Given the description of an element on the screen output the (x, y) to click on. 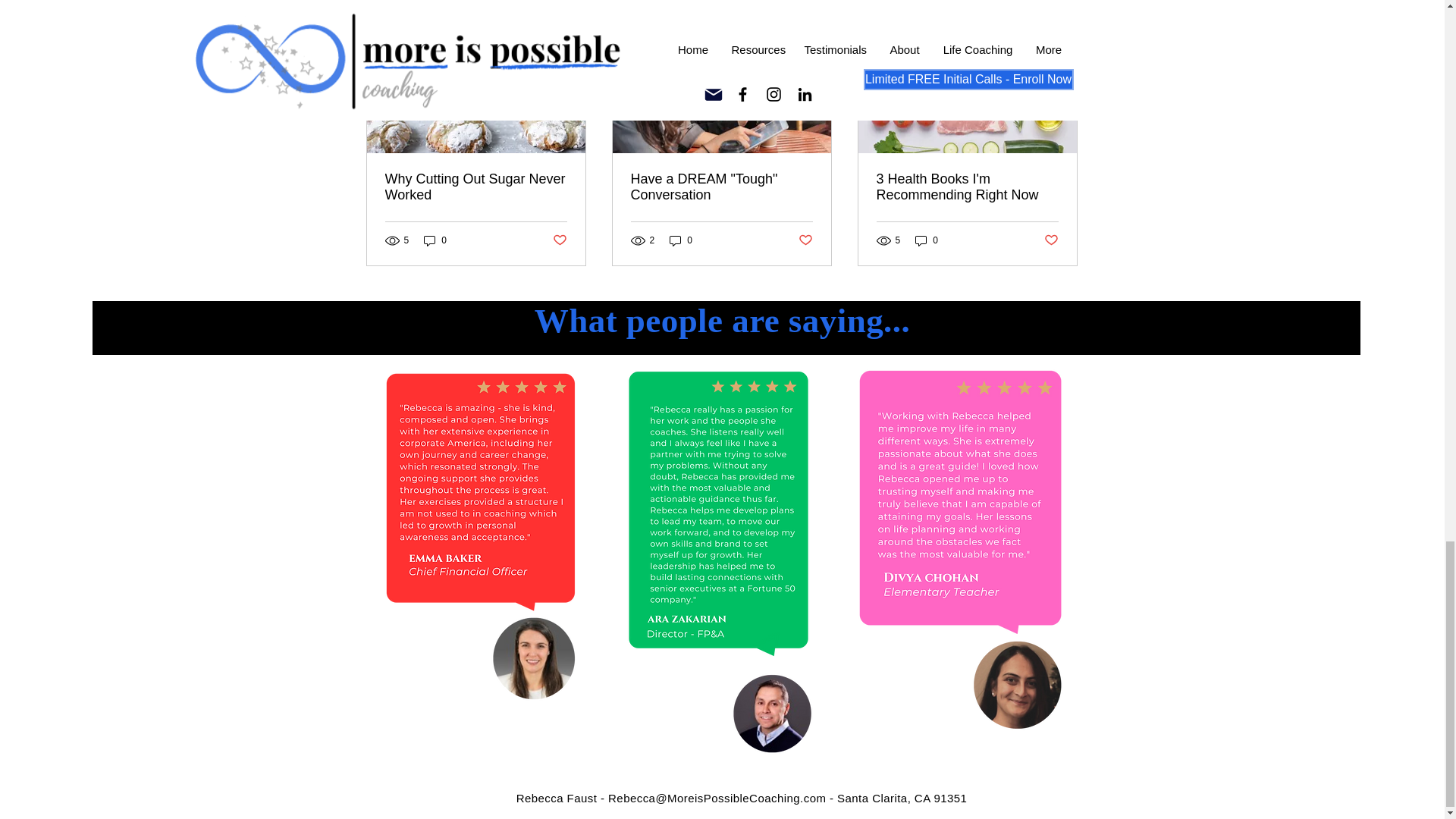
Why Cutting Out Sugar Never Worked (476, 187)
Post not marked as liked (558, 239)
See All (1061, 7)
Post not marked as liked (804, 239)
0 (435, 240)
3 Health Books I'm Recommending Right Now (967, 187)
Have a DREAM "Tough" Conversation (721, 187)
0 (681, 240)
